Given the description of an element on the screen output the (x, y) to click on. 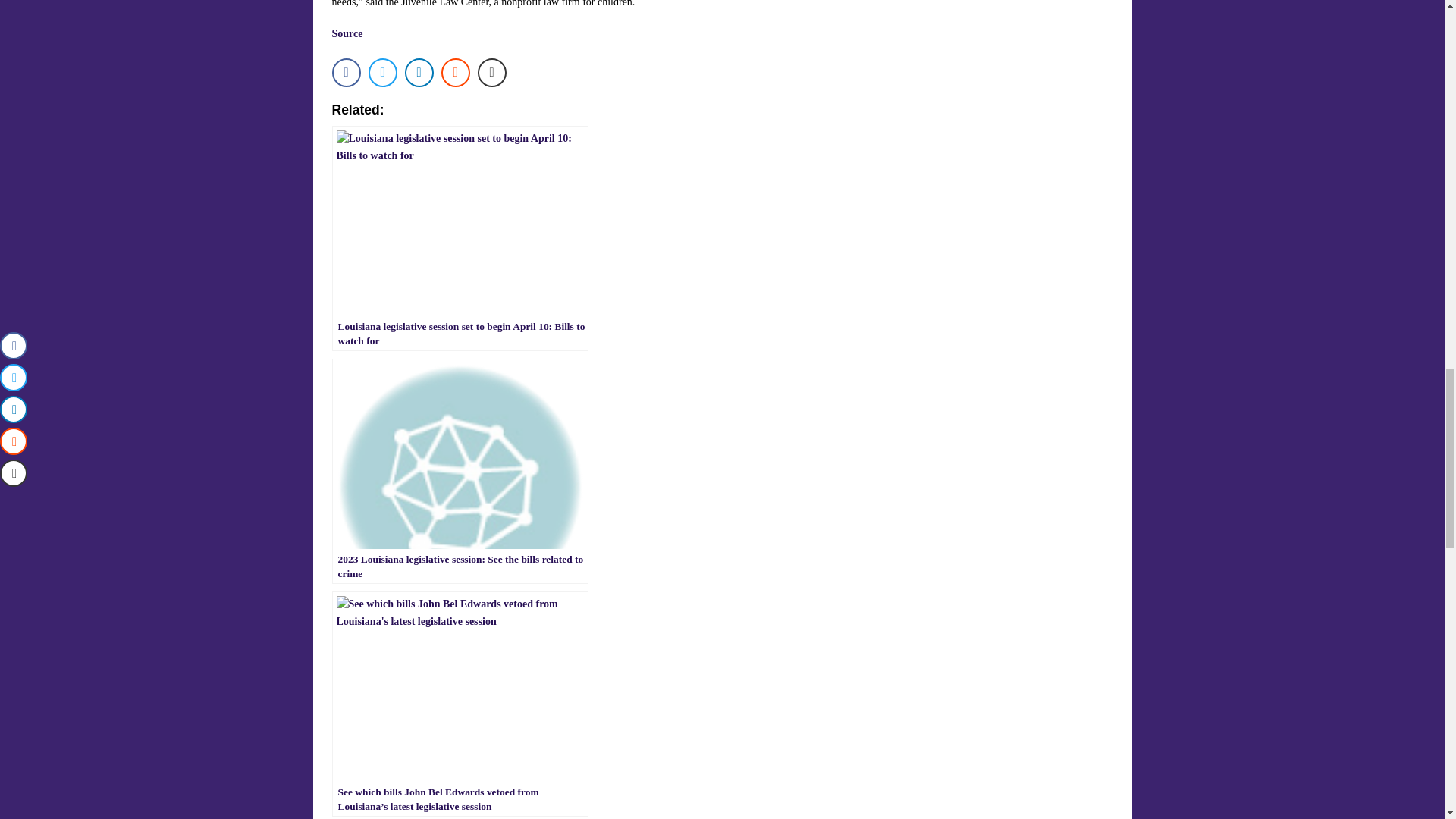
Source (346, 33)
